Given the description of an element on the screen output the (x, y) to click on. 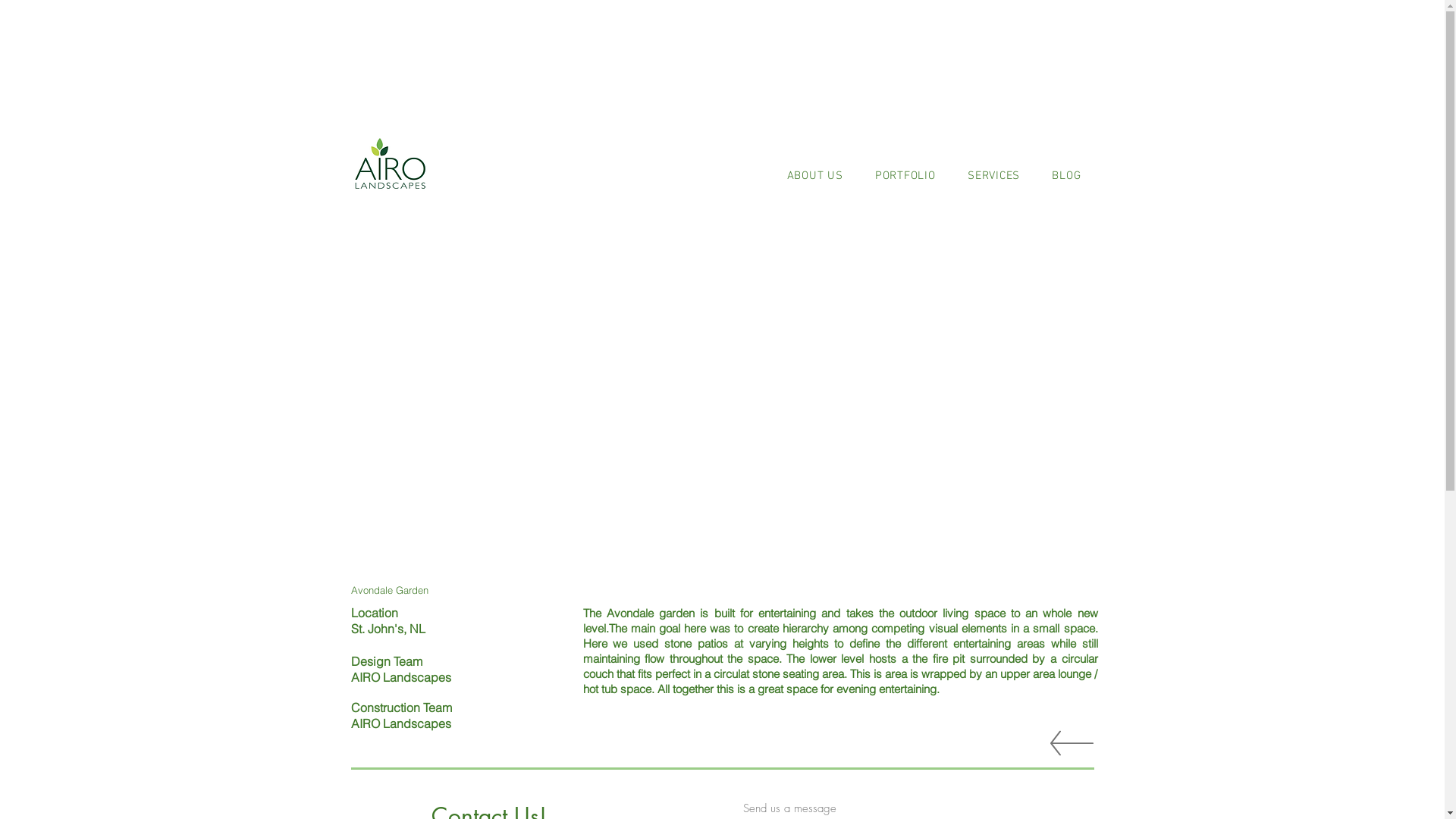
ABOUT US Element type: text (814, 175)
PORTFOLIO Element type: text (905, 175)
BLOG Element type: text (1065, 175)
SERVICES Element type: text (993, 175)
